Given the description of an element on the screen output the (x, y) to click on. 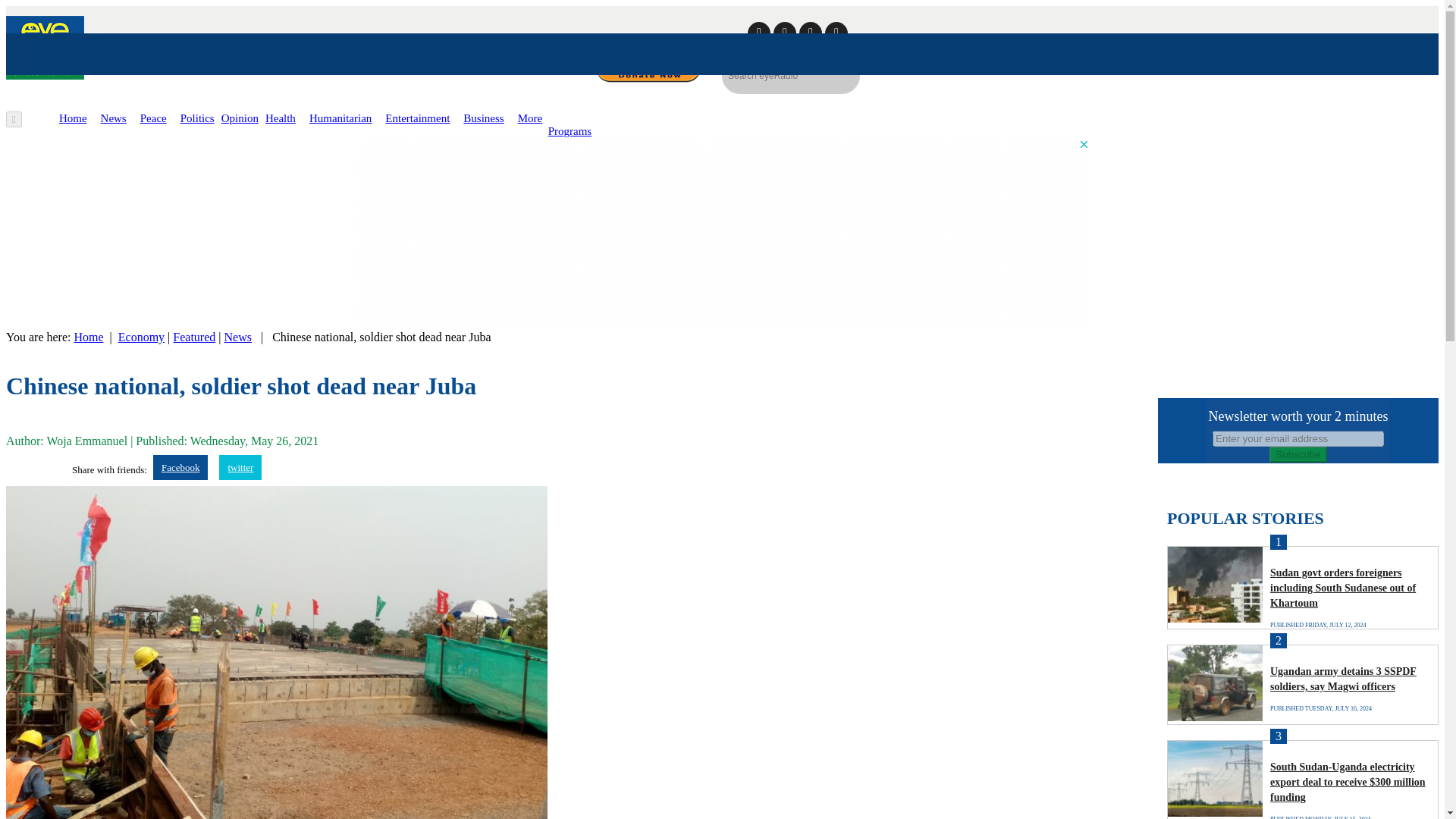
Politics (197, 118)
Facebook (180, 467)
More (530, 118)
Business (483, 118)
Subscribe (1297, 454)
Listen Live (1335, 124)
News (237, 336)
Opinion (240, 118)
Programs (570, 131)
Subscribe (1297, 454)
PayPal - The safer, easier way to pay online! (648, 70)
Health (279, 118)
Featured (194, 336)
Entertainment (417, 118)
